Given the description of an element on the screen output the (x, y) to click on. 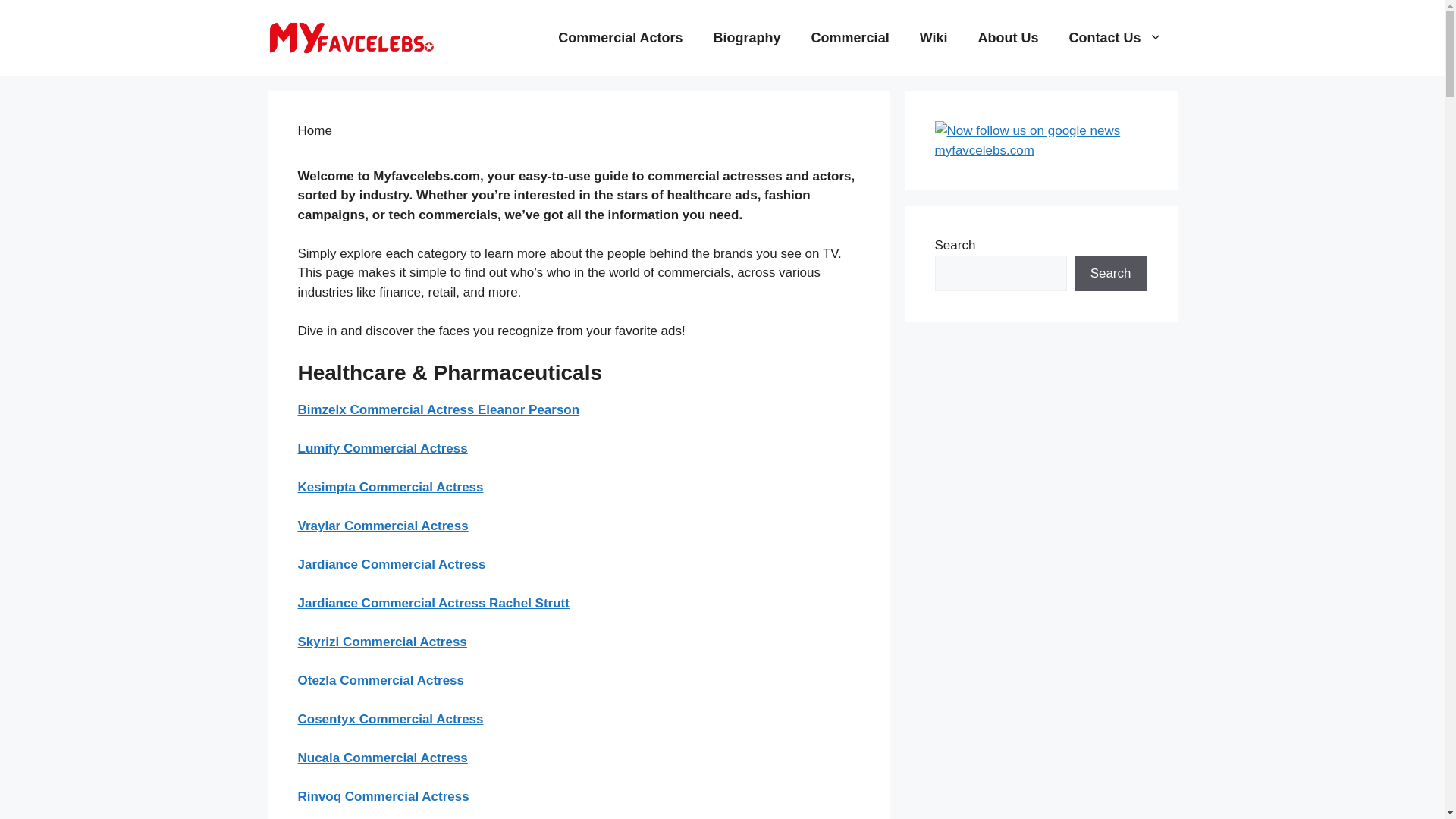
Bimzelx Commercial Actress Eleanor Pearson (438, 409)
Skyrizi Commercial Actress (381, 641)
Vraylar Commercial Actress (382, 525)
Rinvoq Commercial Actress (382, 796)
Contact Us (1114, 37)
Cosentyx Commercial Actress (390, 718)
Kesimpta Commercial Actress (390, 486)
Lumify Commercial Actress (382, 448)
Wiki (933, 37)
Commercial (850, 37)
